Given the description of an element on the screen output the (x, y) to click on. 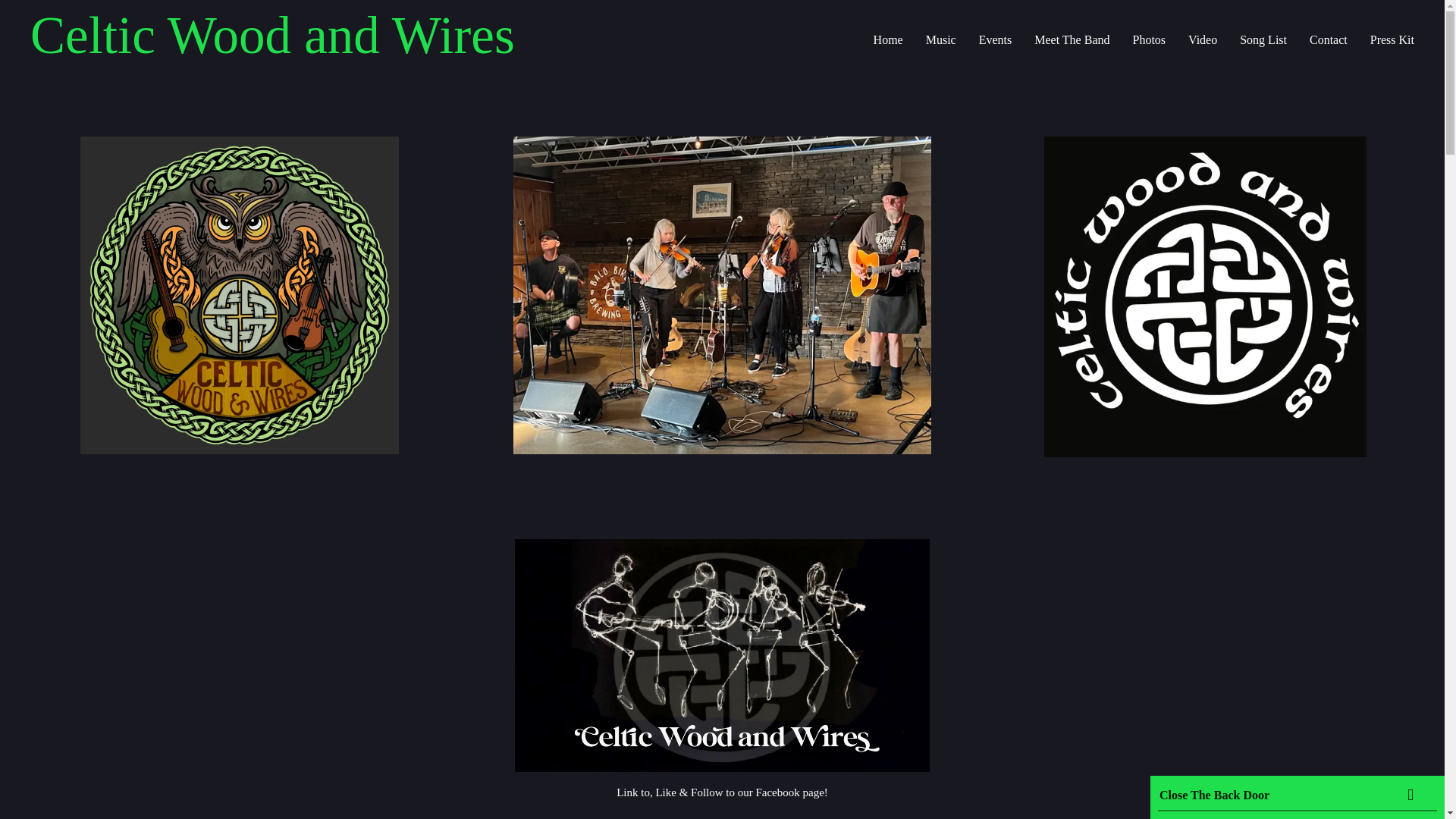
Contact (1328, 40)
Events (994, 40)
Video (1202, 40)
Celtic Wood and Wires (272, 36)
Music (941, 40)
Press Kit (1391, 40)
Song List (1263, 40)
Home (887, 40)
Meet The Band (1071, 40)
Photos (1149, 40)
